Given the description of an element on the screen output the (x, y) to click on. 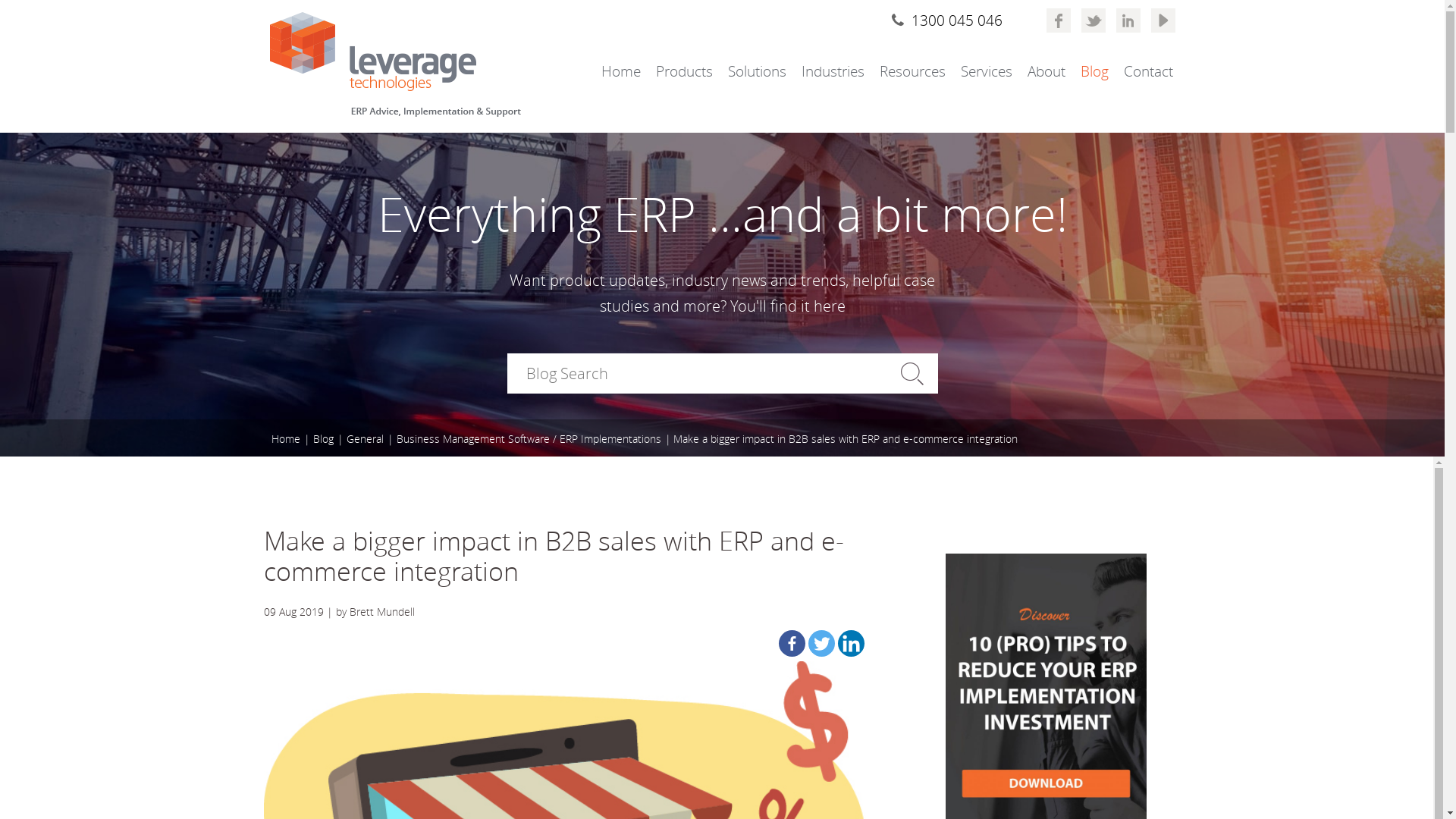
Facebook Element type: hover (791, 643)
General Element type: text (363, 438)
Services Element type: text (985, 70)
Contact Element type: text (1148, 70)
Blog Element type: text (322, 438)
Linkedin Element type: hover (850, 643)
Products Element type: text (683, 70)
Industries Element type: text (831, 70)
Solutions Element type: text (757, 70)
Twitter Element type: hover (821, 643)
Resources Element type: text (912, 70)
Business Management Software / ERP Implementations Element type: text (527, 438)
Home Element type: text (620, 70)
About Element type: text (1045, 70)
Blog Element type: text (1093, 70)
Home Element type: text (285, 438)
1300 045 046 Element type: text (945, 19)
